Given the description of an element on the screen output the (x, y) to click on. 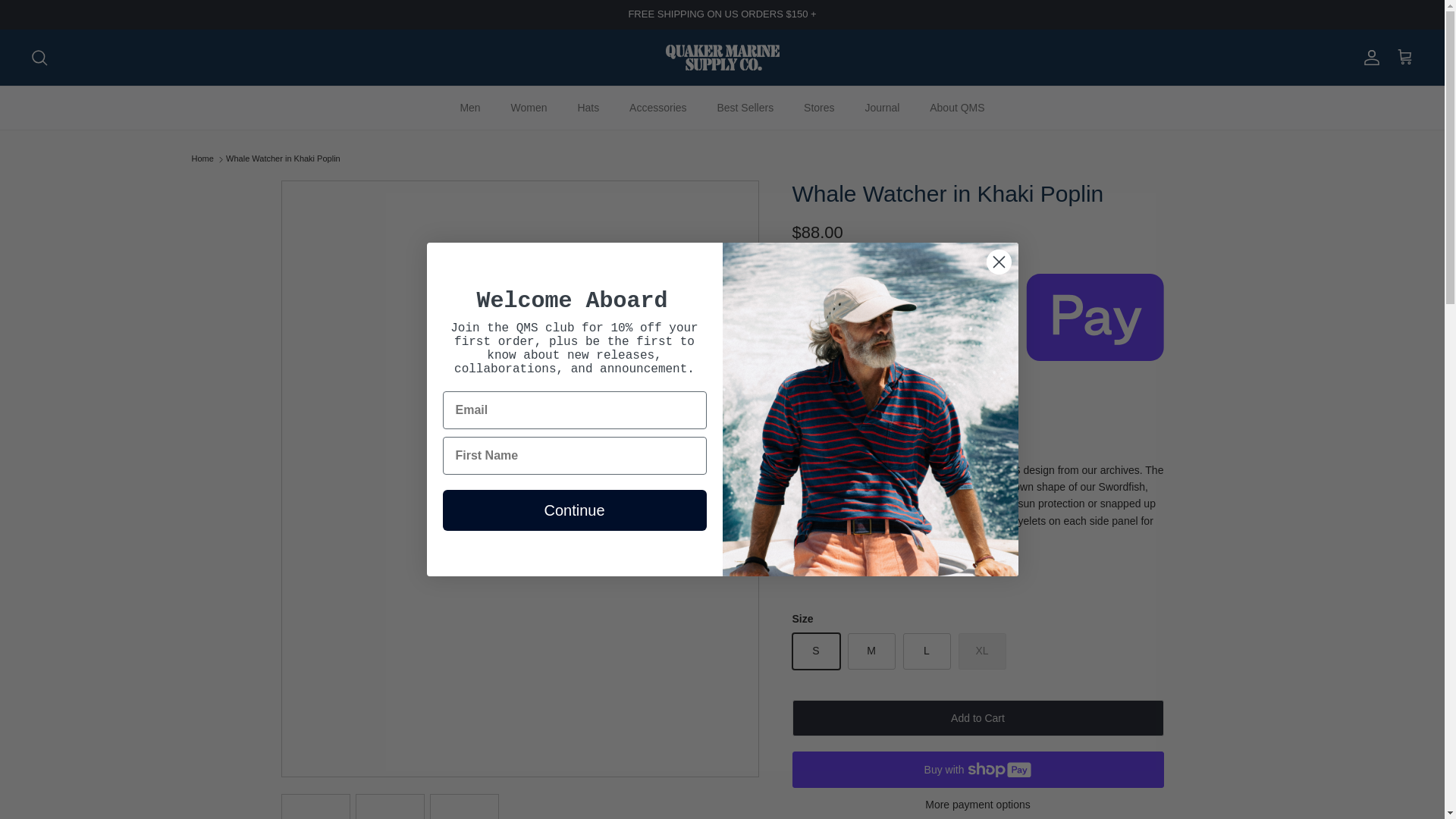
Men (469, 107)
Hats (587, 107)
Quaker Marine Supply Co. (721, 57)
Women (528, 107)
Cart (1404, 57)
Search (39, 57)
0 Reviews (872, 414)
Right (741, 478)
Close dialog 1 (998, 261)
Account (1368, 57)
